Given the description of an element on the screen output the (x, y) to click on. 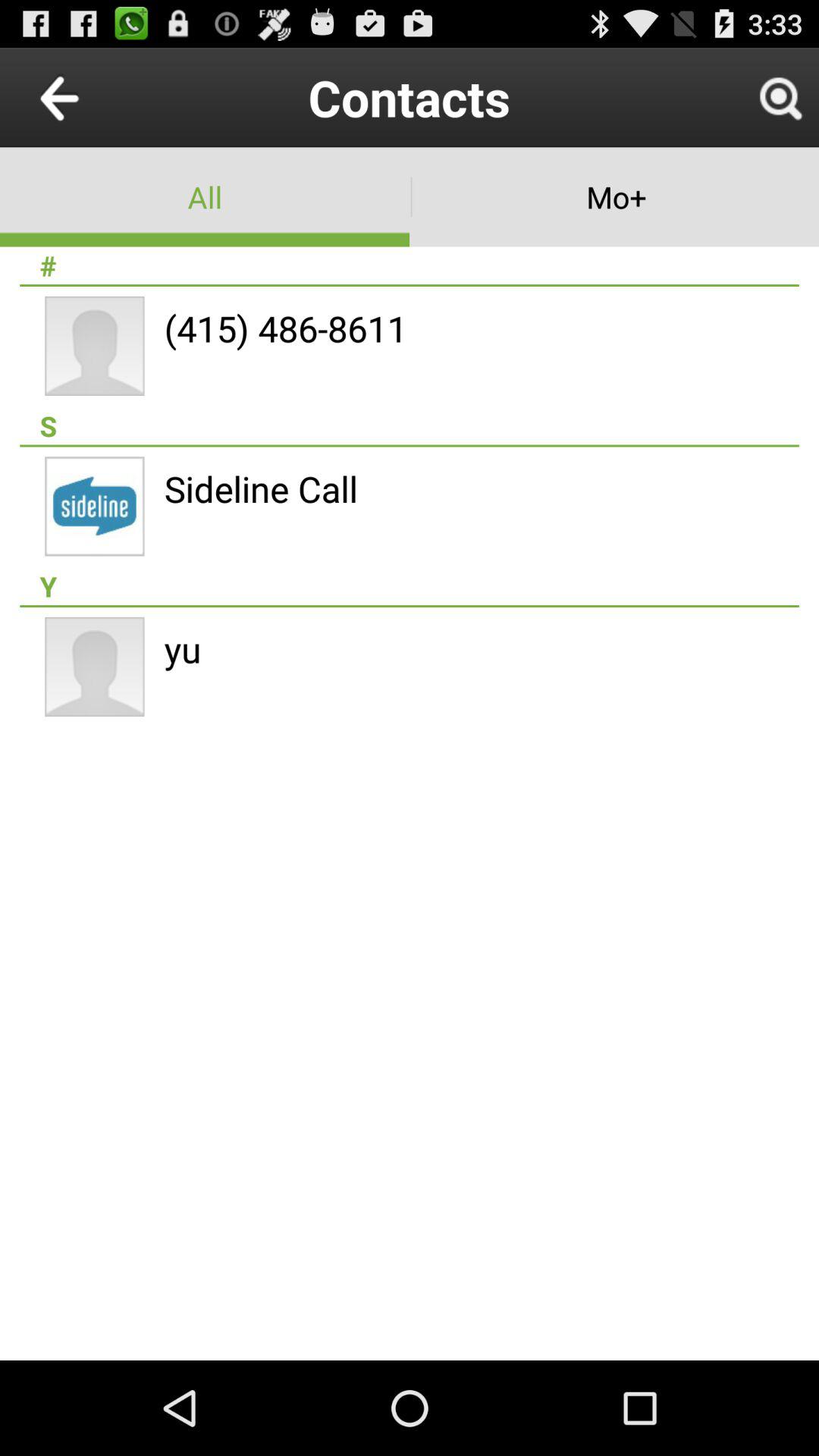
search button (779, 97)
